Given the description of an element on the screen output the (x, y) to click on. 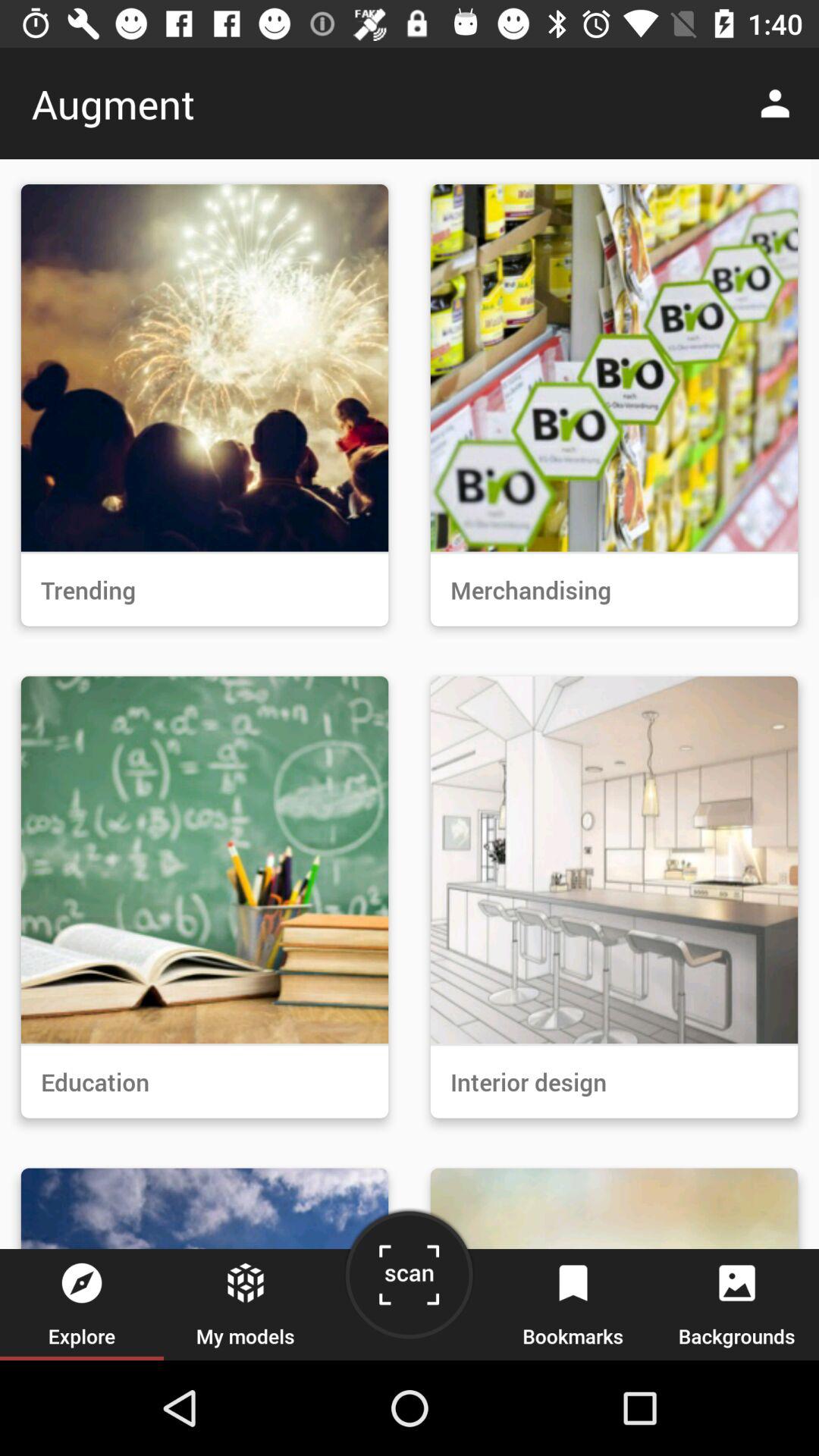
tap the icon to the left of the bookmarks item (408, 1280)
